Given the description of an element on the screen output the (x, y) to click on. 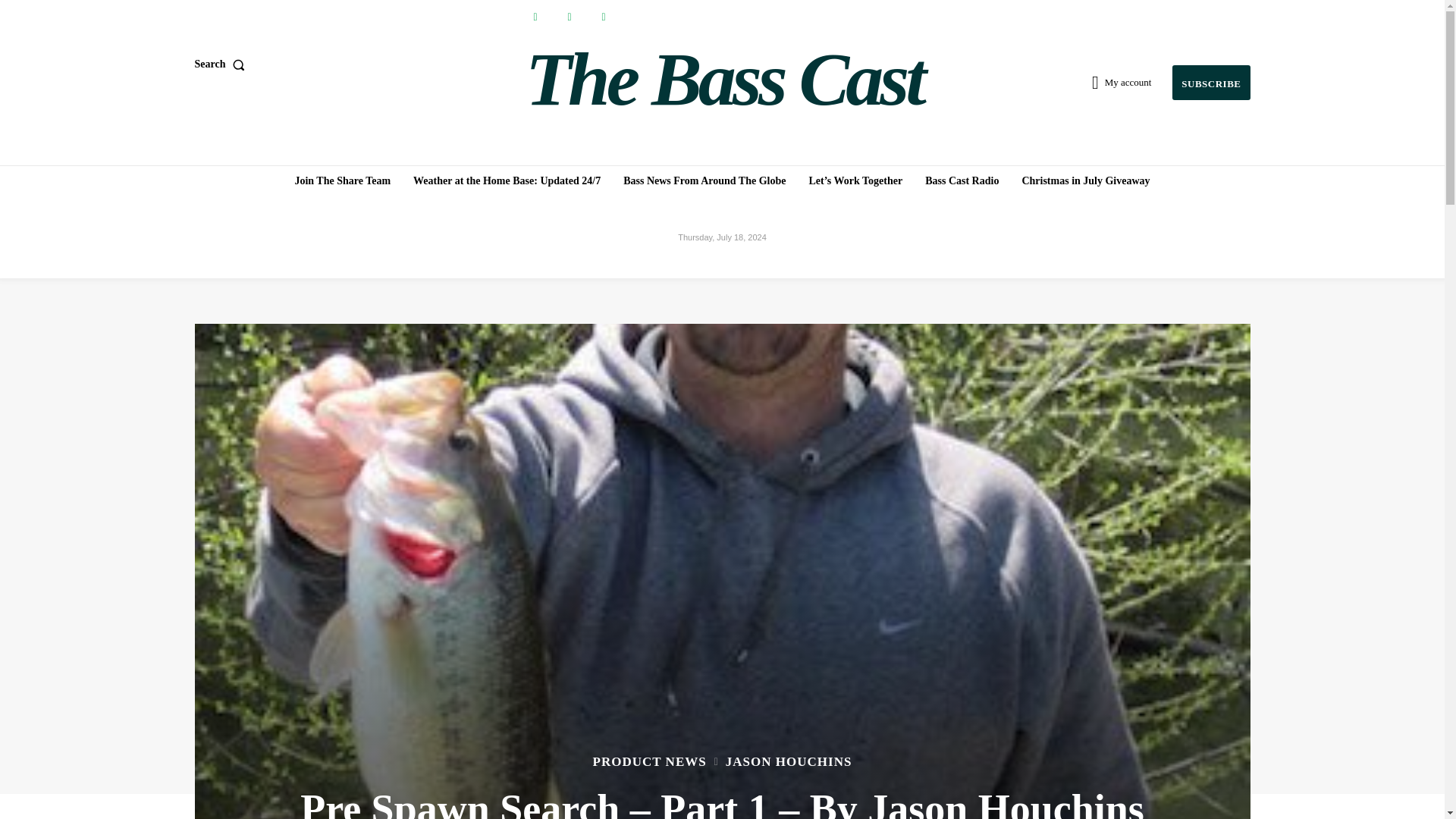
Join The Share Team (341, 181)
The Bass Cast (724, 79)
Instagram (569, 17)
Christmas in July Giveaway (1085, 181)
Youtube (602, 17)
Bass Cast Radio (961, 181)
PRODUCT NEWS (649, 761)
JASON HOUCHINS (788, 761)
Facebook (534, 17)
Search (221, 64)
Subscribe (1210, 82)
Bass News From Around The Globe (704, 181)
SUBSCRIBE (1210, 82)
